Given the description of an element on the screen output the (x, y) to click on. 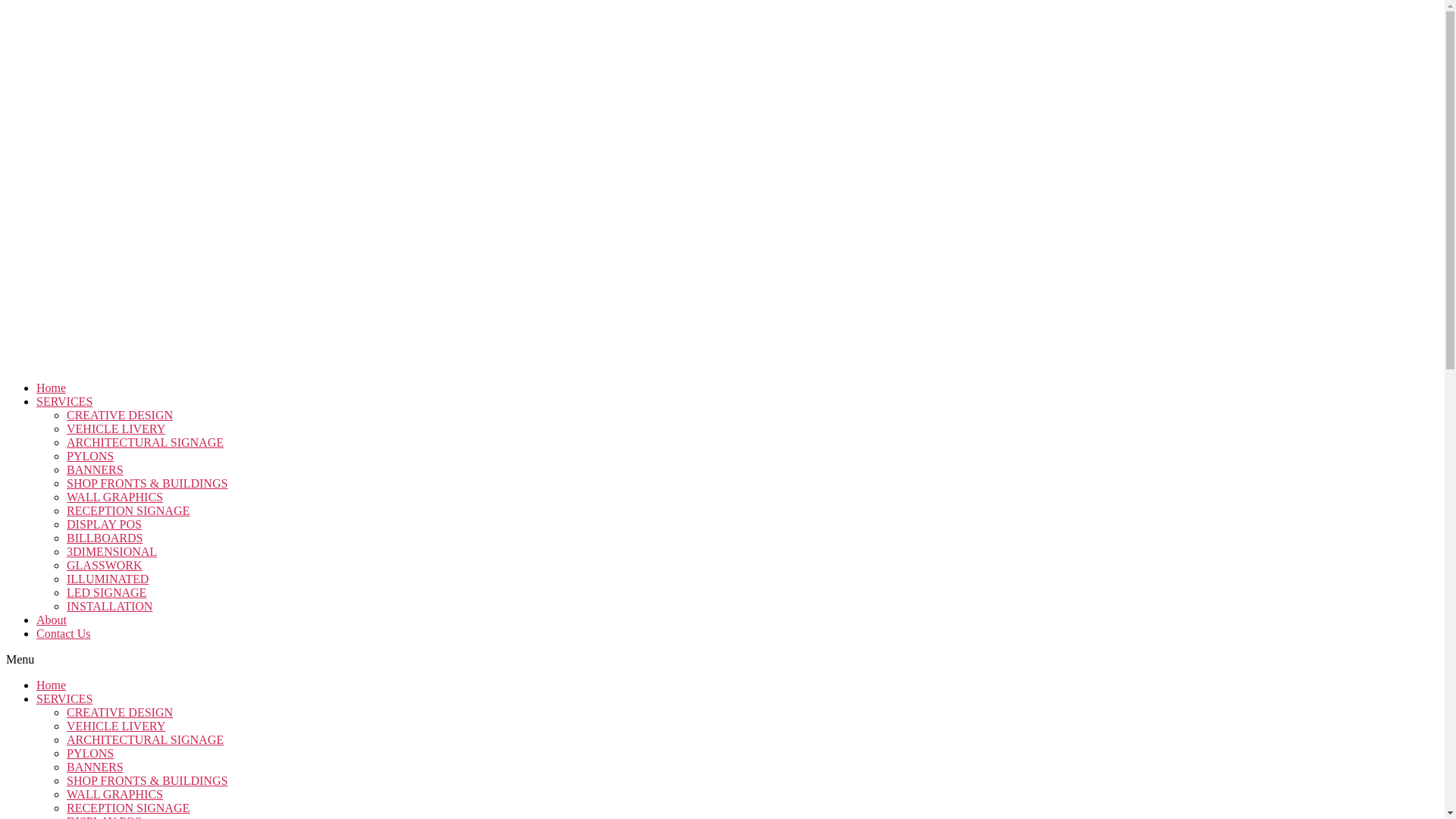
PYLONS Element type: text (89, 752)
VEHICLE LIVERY Element type: text (116, 428)
RECEPTION SIGNAGE Element type: text (128, 510)
BANNERS Element type: text (95, 469)
DISPLAY POS Element type: text (104, 523)
SHOP FRONTS & BUILDINGS Element type: text (147, 482)
SERVICES Element type: text (64, 698)
ILLUMINATED Element type: text (107, 578)
BILLBOARDS Element type: text (104, 537)
WALL GRAPHICS Element type: text (114, 793)
Skip to the content Element type: text (5, 5)
INSTALLATION Element type: text (109, 605)
CREATIVE DESIGN Element type: text (119, 414)
PYLONS Element type: text (90, 455)
ARCHITECTURAL SIGNAGE Element type: text (145, 442)
RECEPTION SIGNAGE Element type: text (127, 807)
Home Element type: text (51, 387)
ARCHITECTURAL SIGNAGE Element type: text (144, 739)
3DIMENSIONAL Element type: text (111, 551)
WALL GRAPHICS Element type: text (114, 496)
BANNERS Element type: text (94, 766)
About Element type: text (51, 619)
VEHICLE LIVERY Element type: text (115, 725)
SERVICES Element type: text (64, 401)
LED SIGNAGE Element type: text (106, 592)
SHOP FRONTS & BUILDINGS Element type: text (146, 780)
GLASSWORK Element type: text (104, 564)
CREATIVE DESIGN Element type: text (119, 712)
Home Element type: text (50, 684)
Contact Us Element type: text (63, 633)
